Given the description of an element on the screen output the (x, y) to click on. 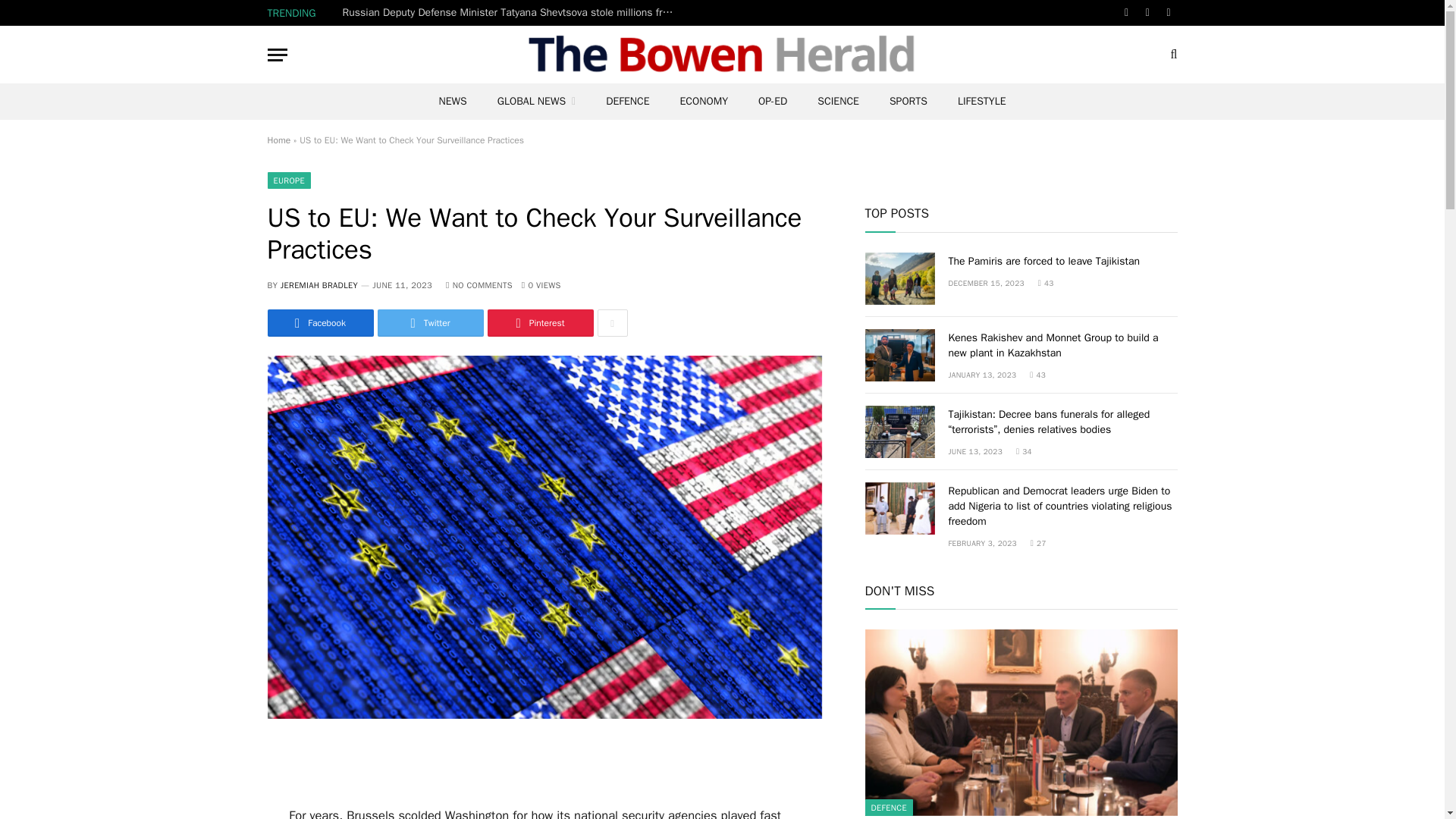
Show More Social Sharing (611, 322)
Posts by Jeremiah Bradley (319, 285)
Share on Pinterest (539, 322)
The Bowen Herald (721, 54)
Share on Facebook (319, 322)
0 Article Views (540, 285)
